Given the description of an element on the screen output the (x, y) to click on. 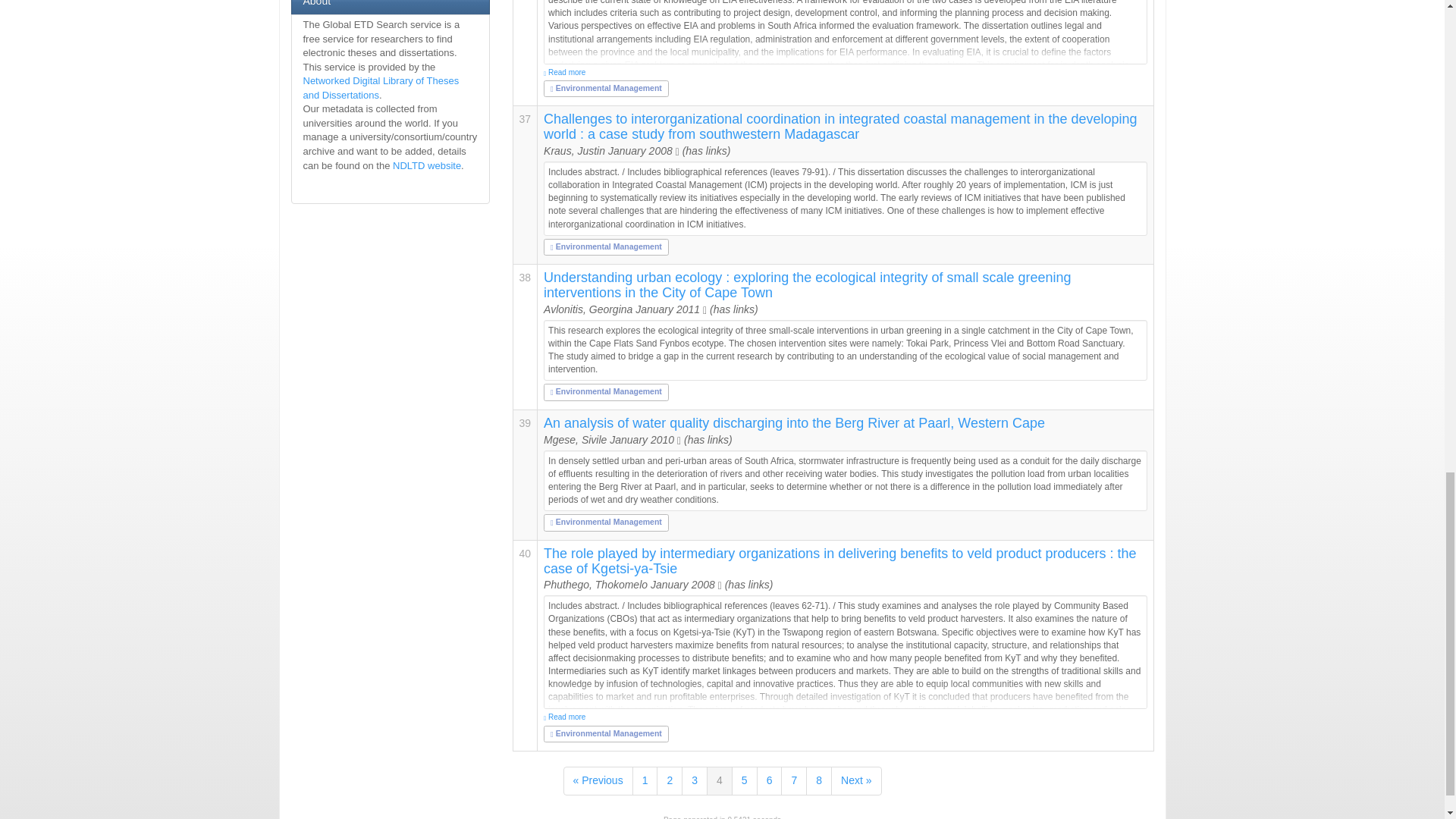
5 (744, 780)
2 (669, 780)
Environmental Management (606, 390)
6 (770, 780)
4 (719, 780)
NDLTD website (427, 165)
1 (644, 780)
Environmental Management (606, 245)
